Given the description of an element on the screen output the (x, y) to click on. 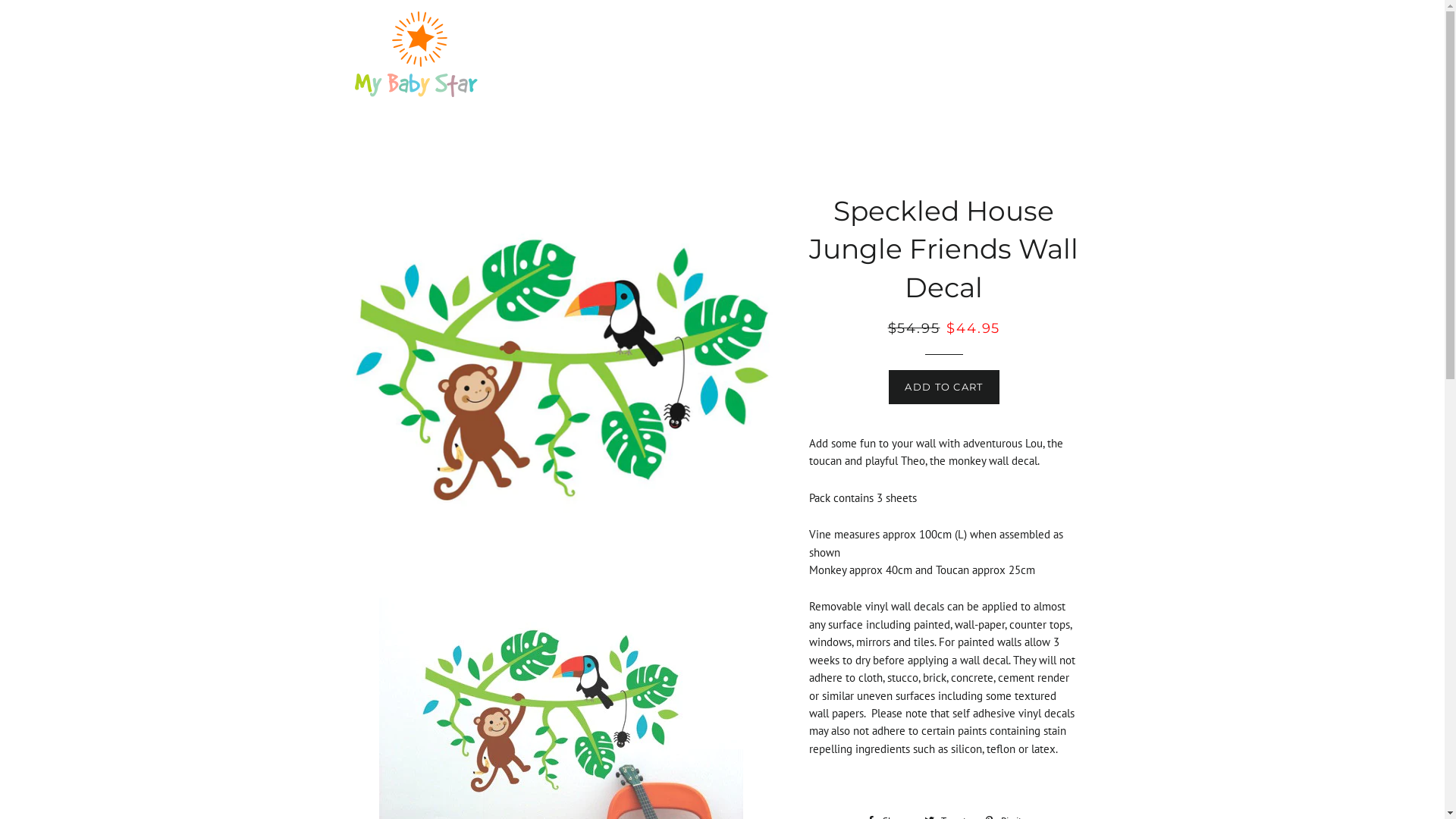
ADD TO CART Element type: text (943, 386)
